Given the description of an element on the screen output the (x, y) to click on. 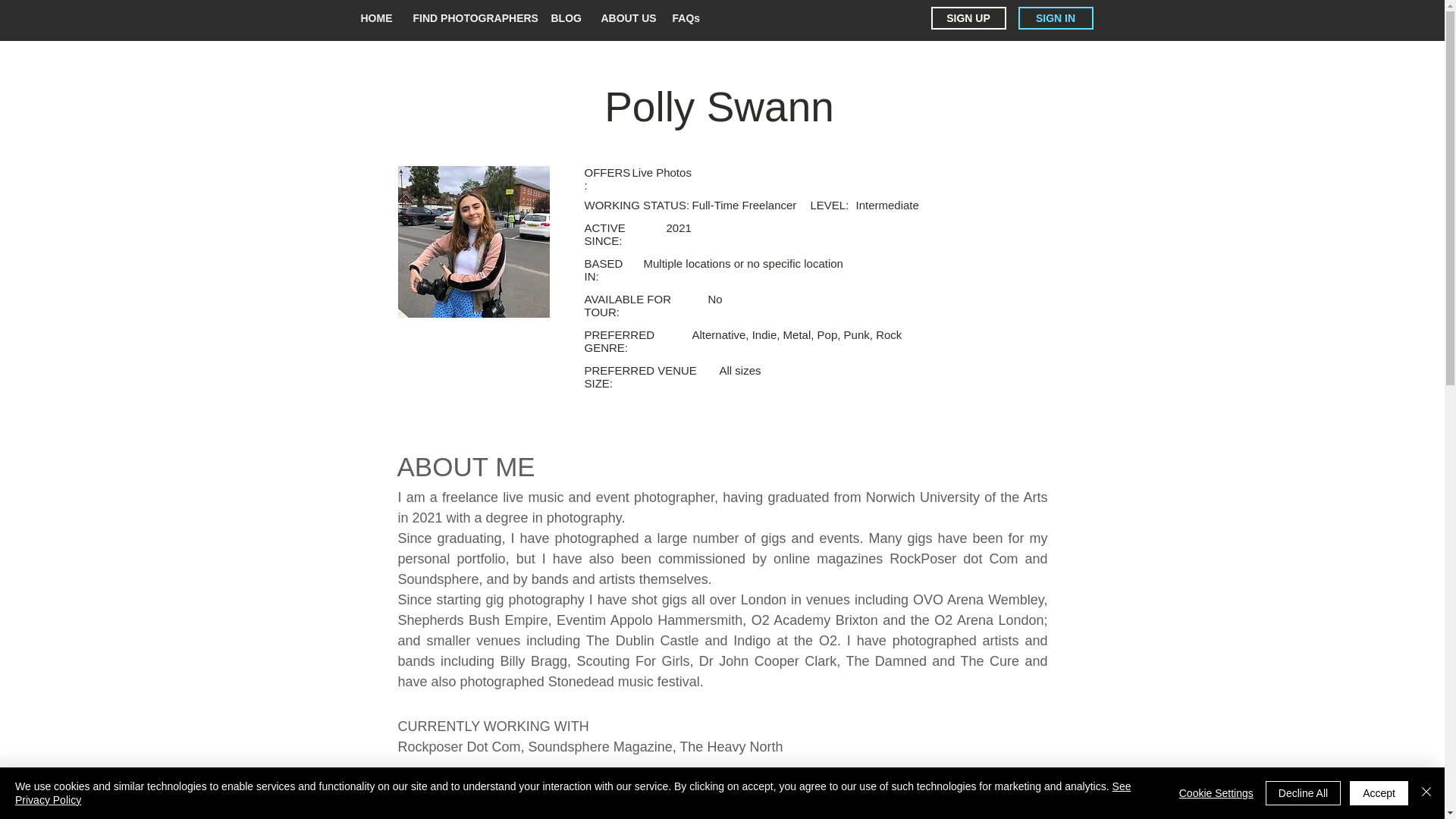
Accept (1378, 793)
ABOUT US (626, 17)
BLOG (566, 17)
FIND PHOTOGRAPHERS (472, 17)
See Privacy Policy (572, 792)
SIGN UP (968, 17)
SIGN IN (1055, 17)
Decline All (1302, 793)
FAQs (686, 17)
HOME (376, 17)
Polly Swann (472, 240)
